Given the description of an element on the screen output the (x, y) to click on. 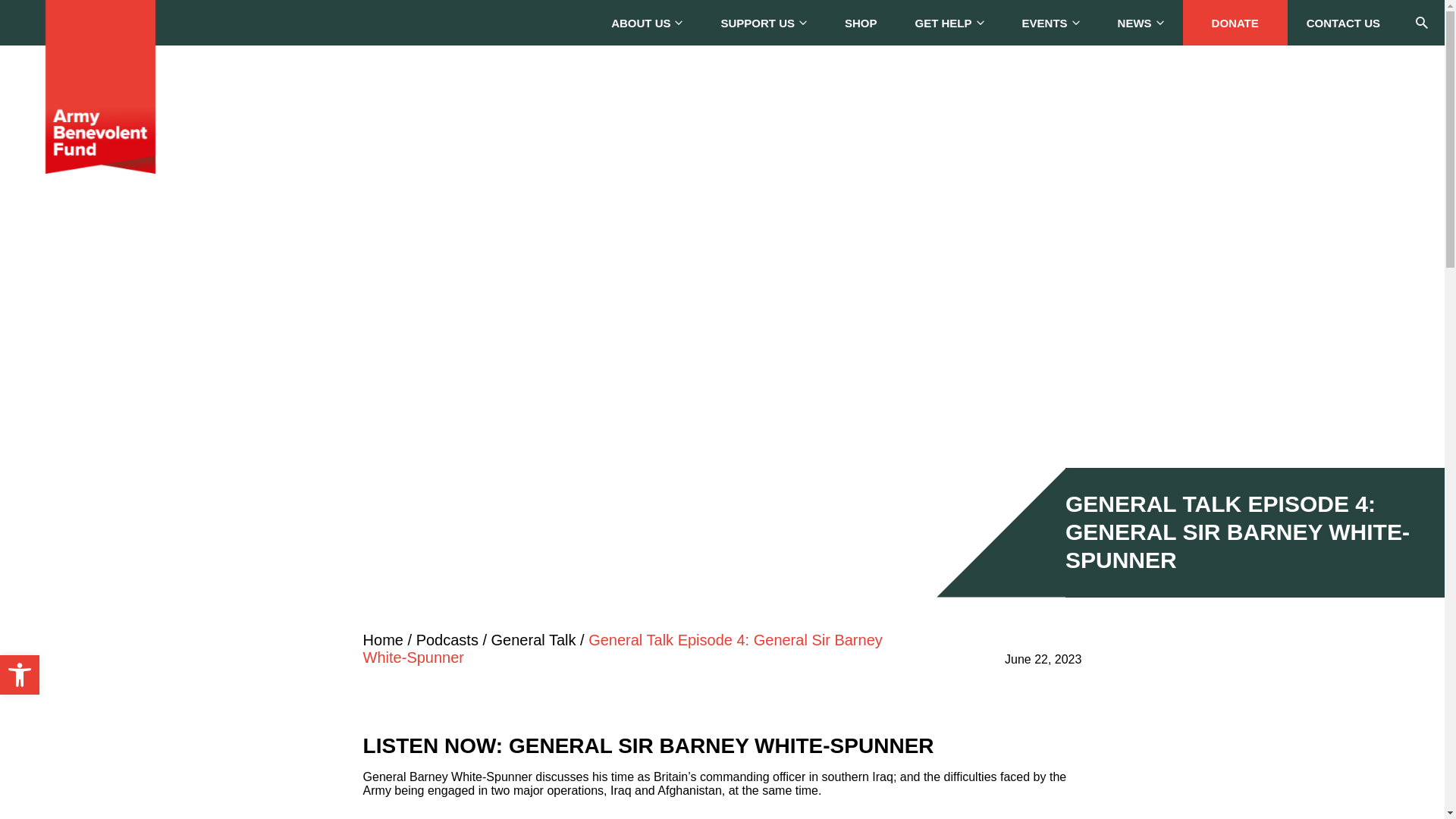
Go to Podcasts. (447, 639)
EVENTS (1051, 22)
Go to the General Talk Podcast Category archives. (534, 639)
Go to Army Benevolent Fund. (382, 639)
SHOP (860, 22)
GET HELP (949, 22)
Accessibility Tools (19, 674)
ABOUT US (646, 22)
SUPPORT US (763, 22)
Open toolbar (19, 674)
